Given the description of an element on the screen output the (x, y) to click on. 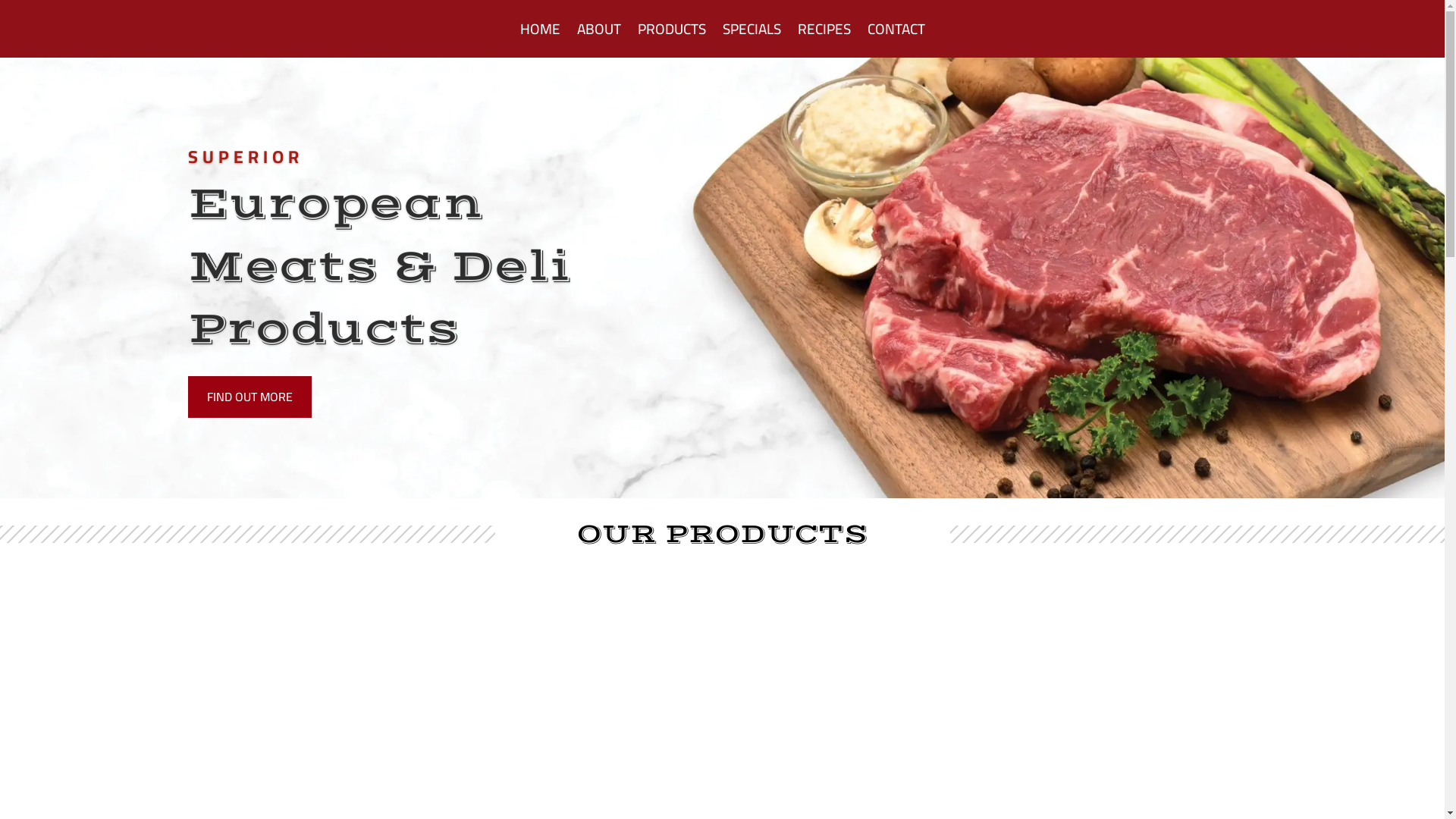
CONTACT Element type: text (896, 28)
RECIPES Element type: text (823, 28)
SPECIALS Element type: text (750, 28)
FIND OUT MORE Element type: text (249, 396)
HOME Element type: text (540, 28)
ABOUT Element type: text (598, 28)
PRODUCTS Element type: text (671, 28)
SUPERIOR Element type: text (245, 156)
